Given the description of an element on the screen output the (x, y) to click on. 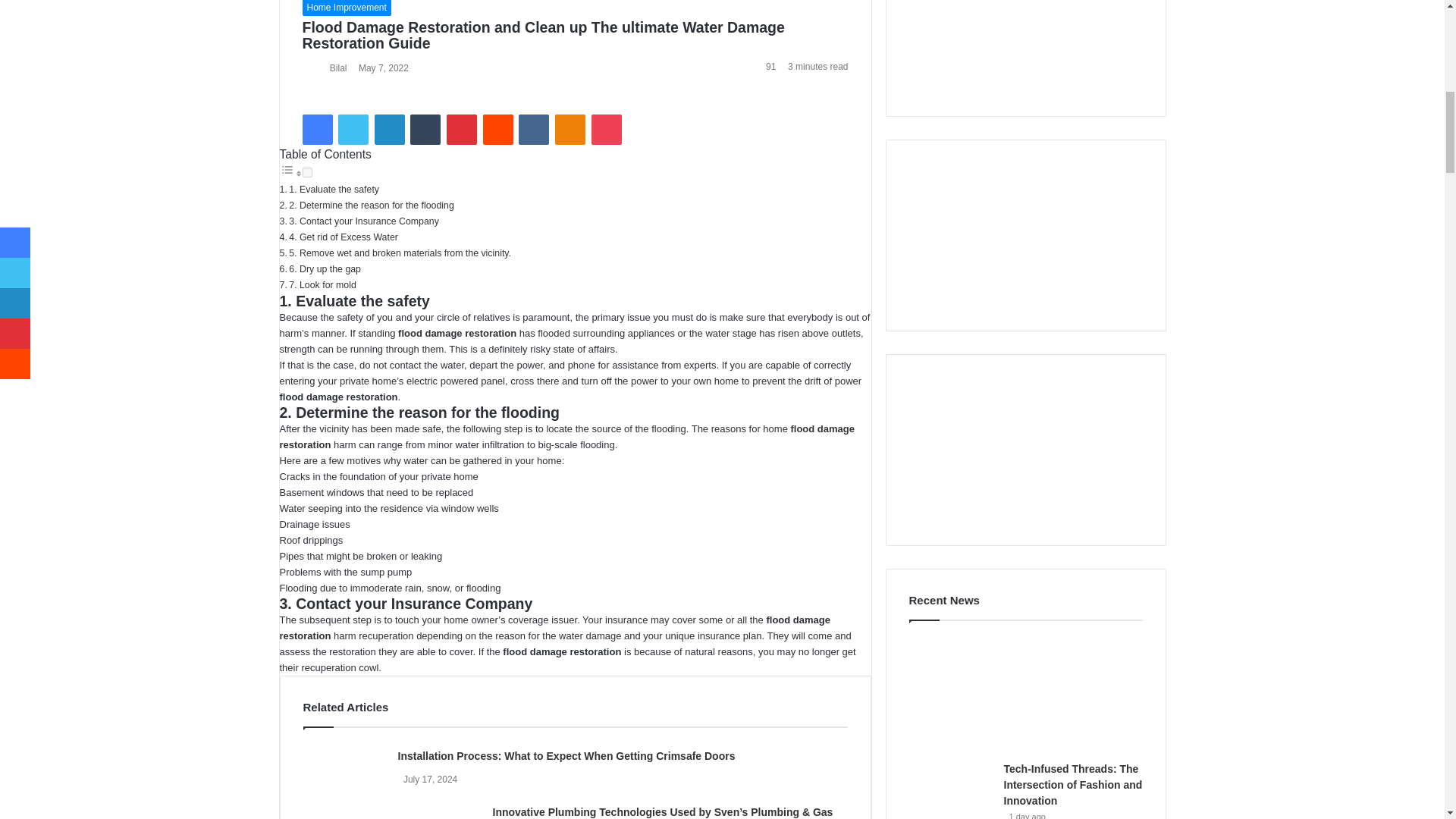
Reddit (498, 129)
on (306, 172)
Pocket (606, 129)
Twitter (352, 129)
Twitter (352, 129)
LinkedIn (389, 129)
Bilal (338, 68)
Bilal (338, 68)
Facebook (316, 129)
Facebook (316, 129)
